Given the description of an element on the screen output the (x, y) to click on. 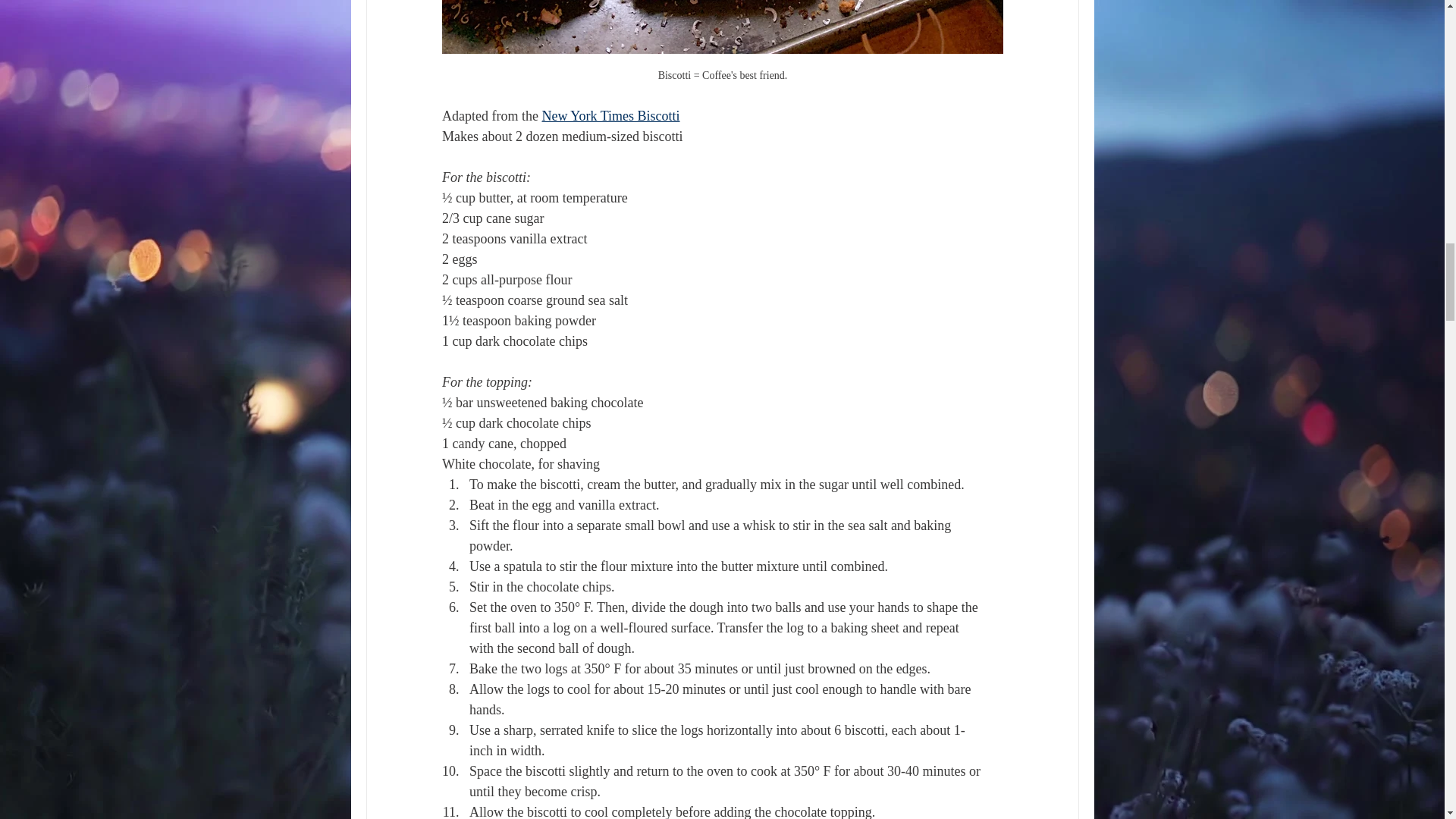
New York Times Biscotti (610, 115)
